Given the description of an element on the screen output the (x, y) to click on. 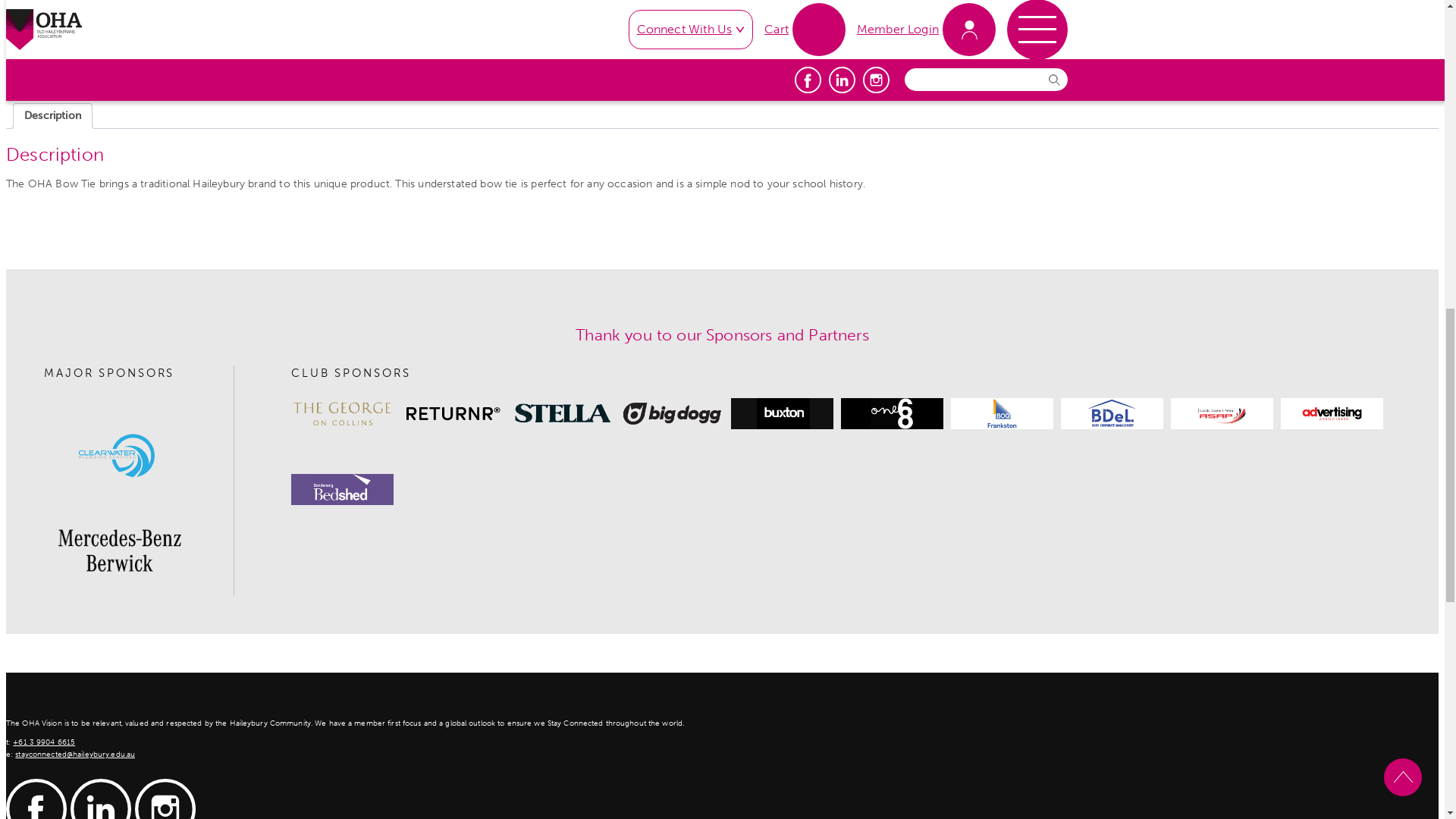
Merchandise Element type: text (74, 181)
Merchandise Element type: text (834, 420)
ADD TO CART Element type: text (927, 372)
Qty Element type: hover (799, 372)
Clothing Element type: text (913, 420)
Home Element type: text (20, 181)
Bow Tie Display Image Element type: hover (349, 484)
